Given the description of an element on the screen output the (x, y) to click on. 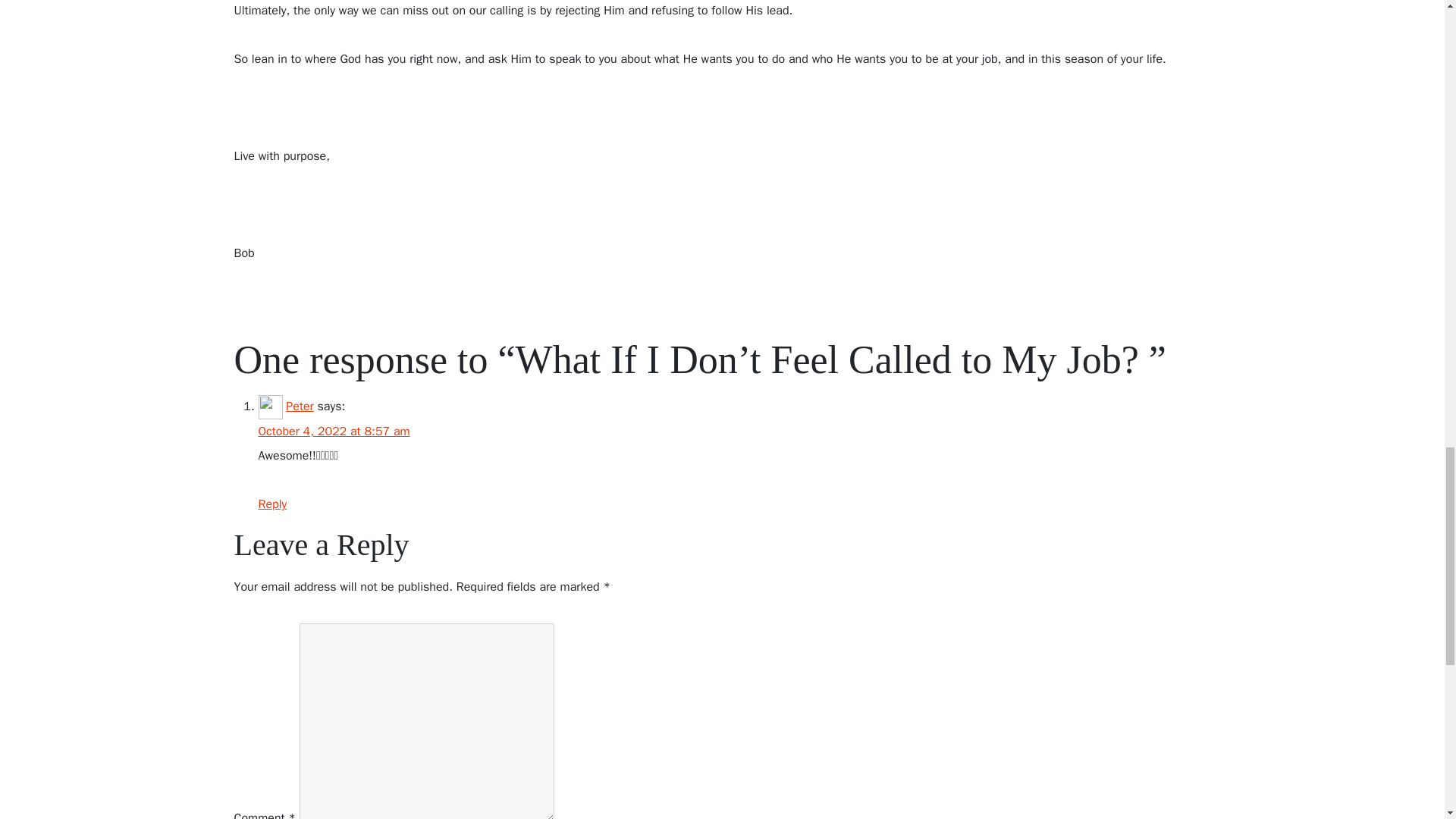
Peter (299, 406)
October 4, 2022 at 8:57 am (333, 431)
Reply (271, 503)
